Given the description of an element on the screen output the (x, y) to click on. 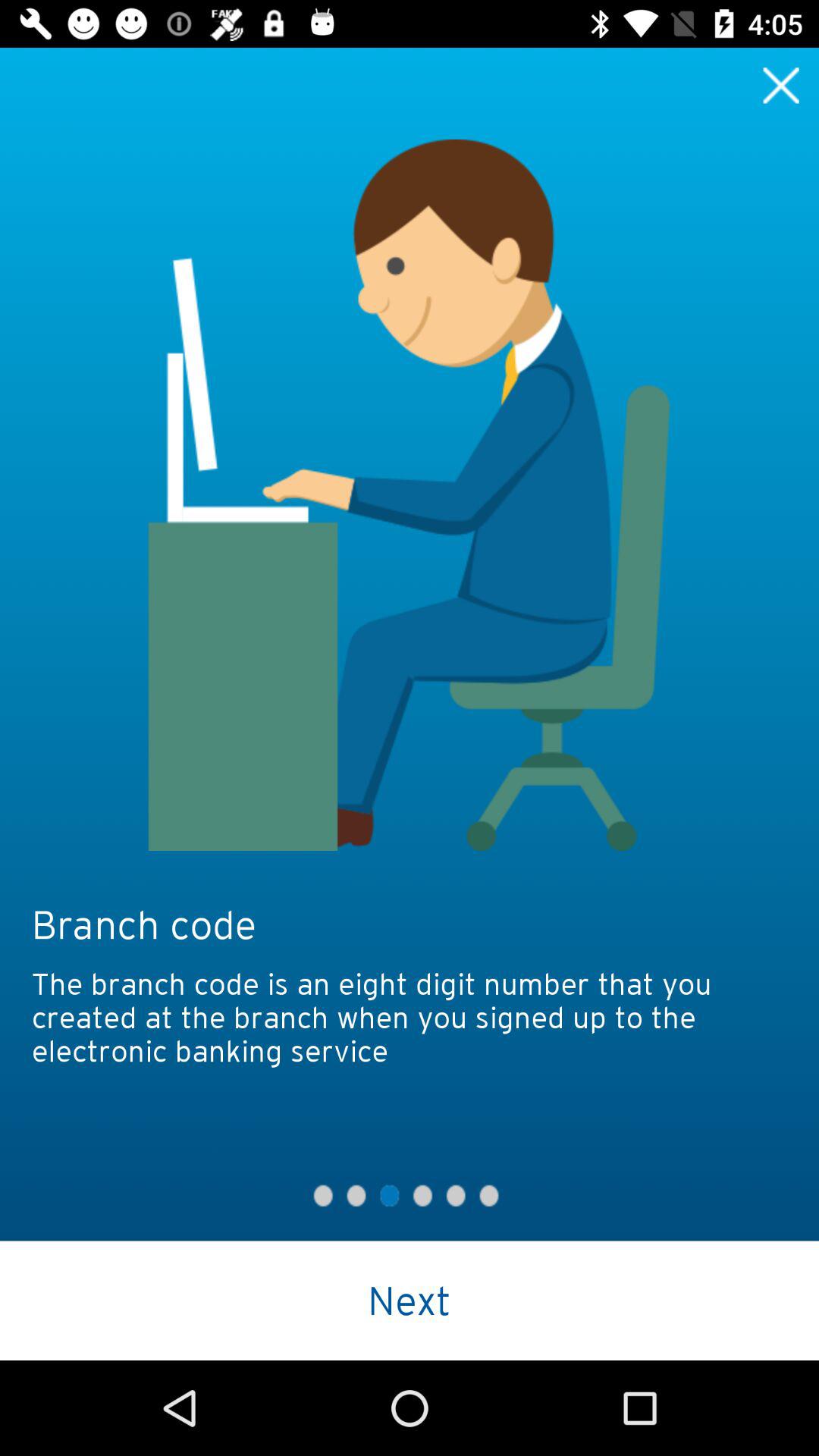
close (781, 85)
